Given the description of an element on the screen output the (x, y) to click on. 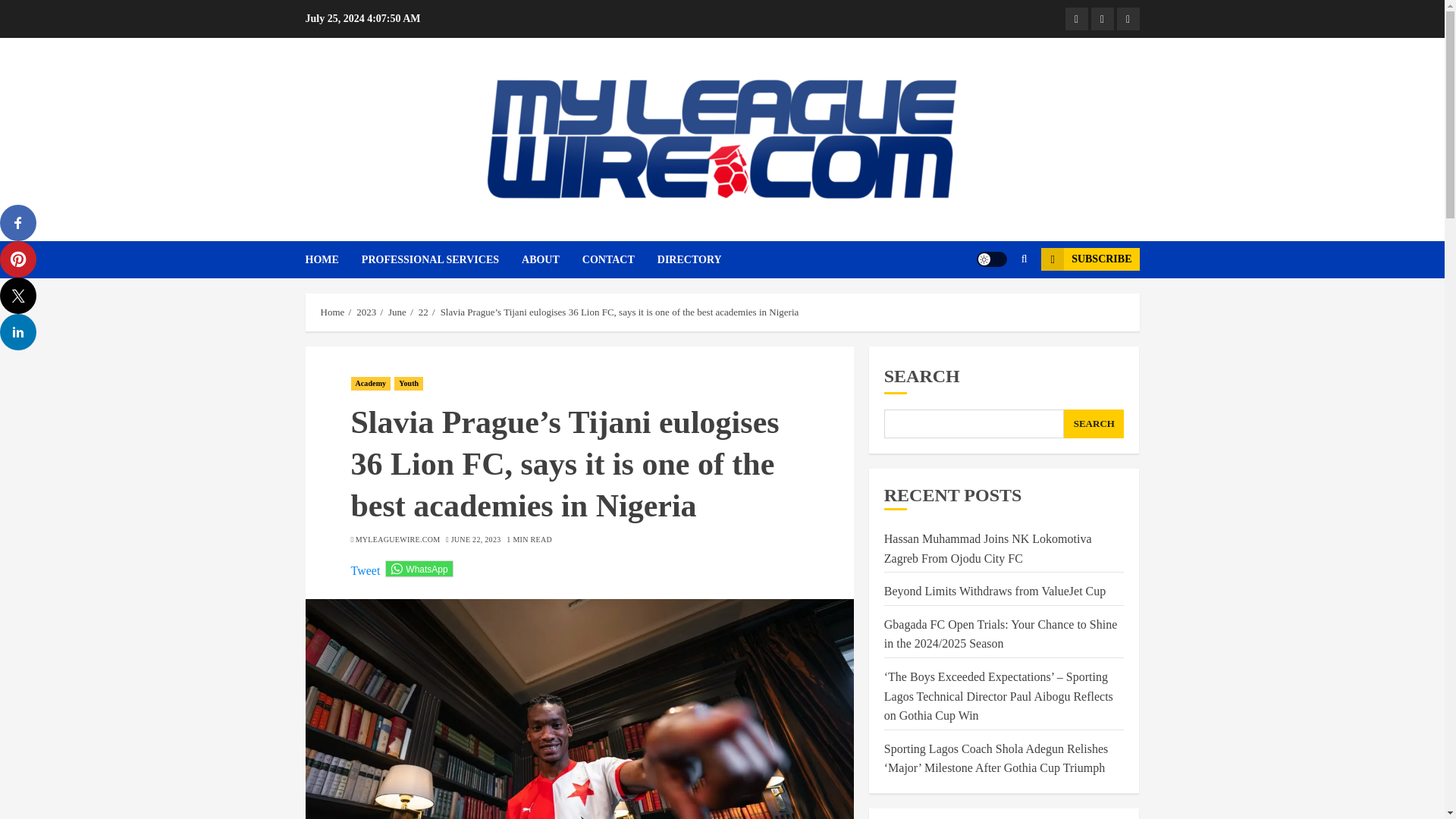
Academy (370, 383)
Home (331, 312)
DIRECTORY (690, 259)
CONTACT (620, 259)
SUBSCRIBE (1089, 259)
HOME (332, 259)
WhatsApp (418, 568)
Twitter (1075, 18)
JUNE 22, 2023 (475, 539)
MYLEAGUEWIRE.COM (398, 539)
Click to share on WhatsApp (418, 568)
Youth (408, 383)
Facebook (1101, 18)
PROFESSIONAL SERVICES (441, 259)
June (397, 312)
